Given the description of an element on the screen output the (x, y) to click on. 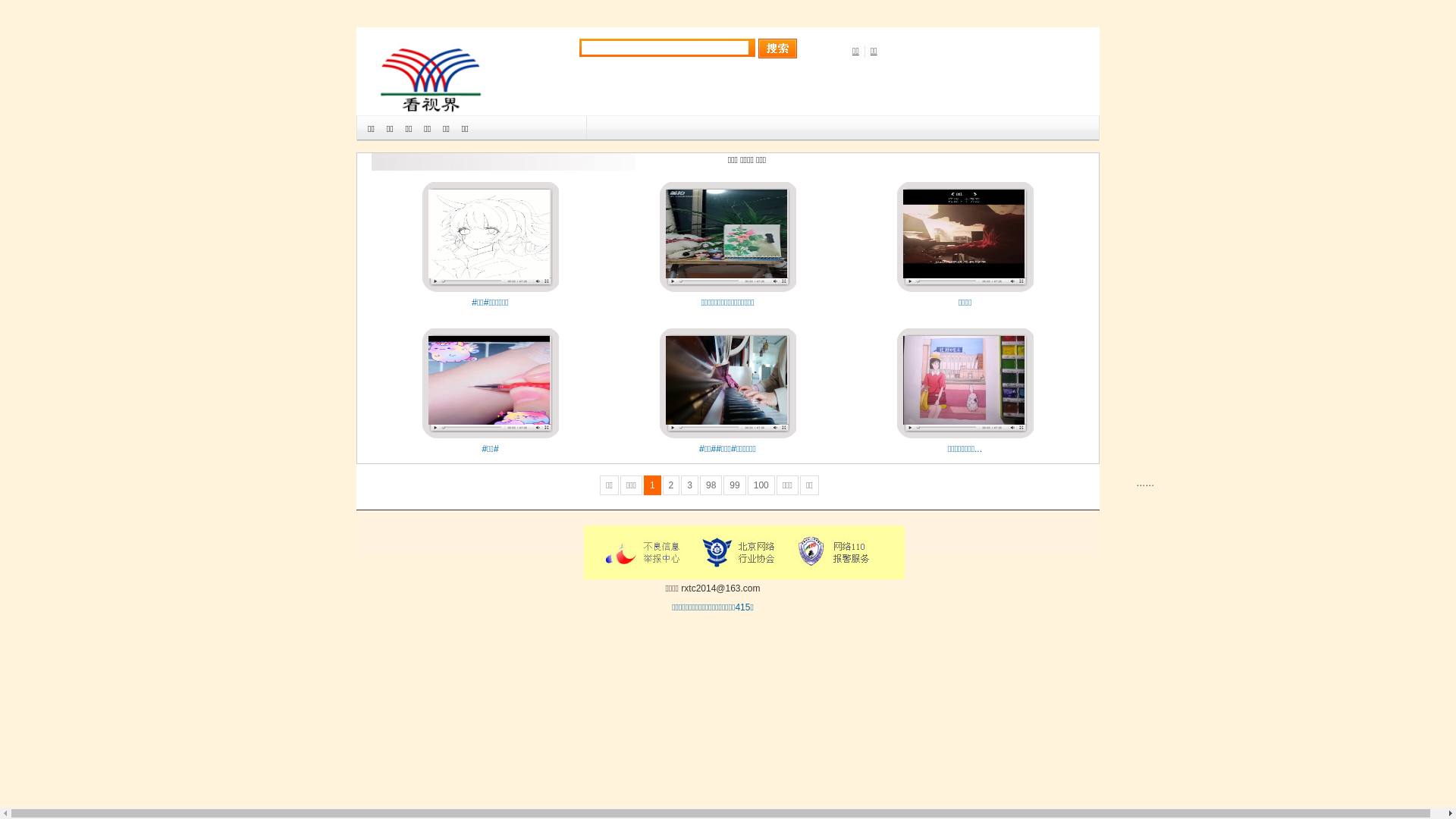
100 Element type: text (761, 485)
1 Element type: text (652, 485)
98 Element type: text (710, 485)
2 Element type: text (671, 485)
3 Element type: text (689, 485)
99 Element type: text (734, 485)
